Given the description of an element on the screen output the (x, y) to click on. 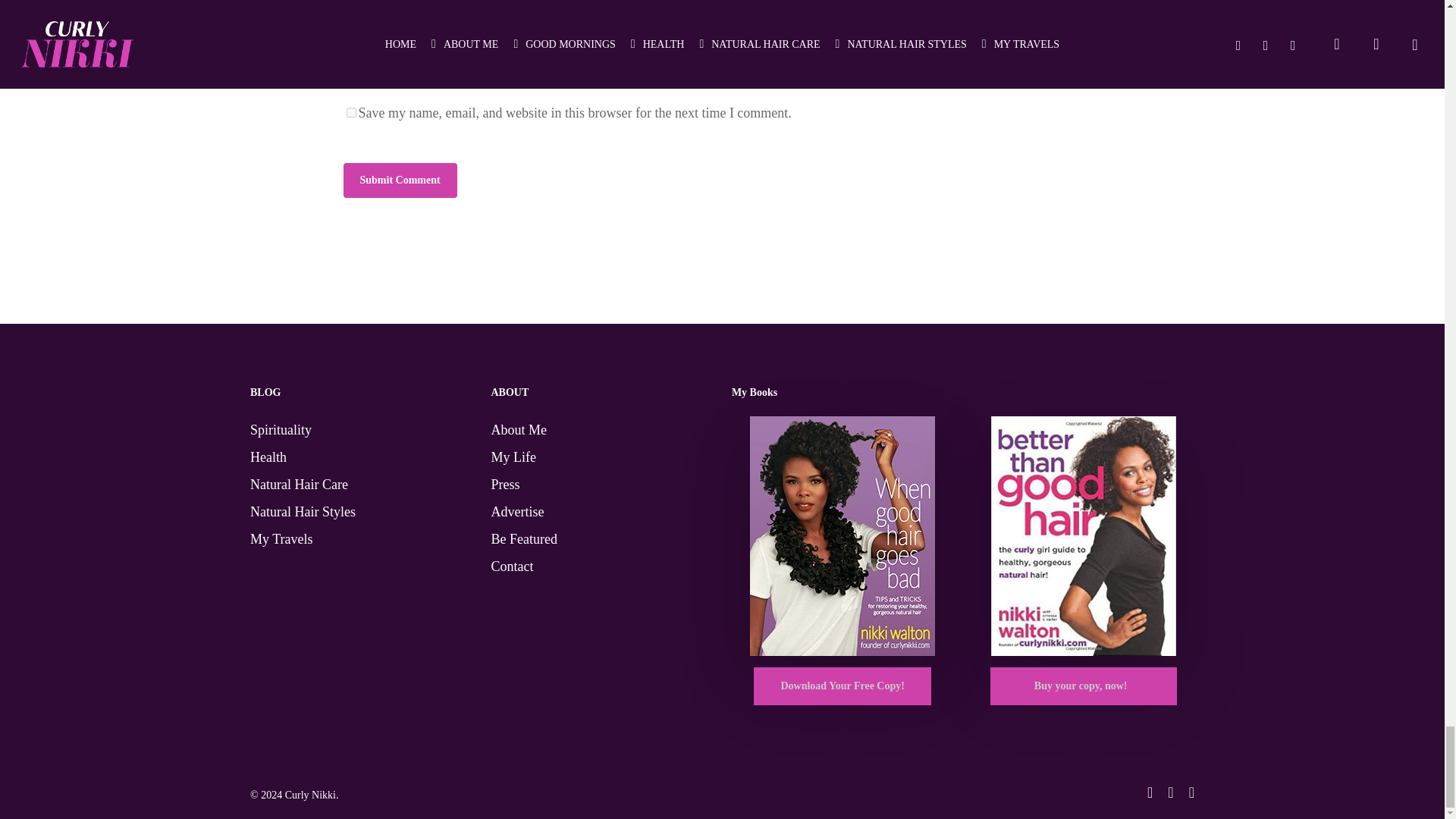
yes (350, 112)
Submit Comment (399, 180)
